Given the description of an element on the screen output the (x, y) to click on. 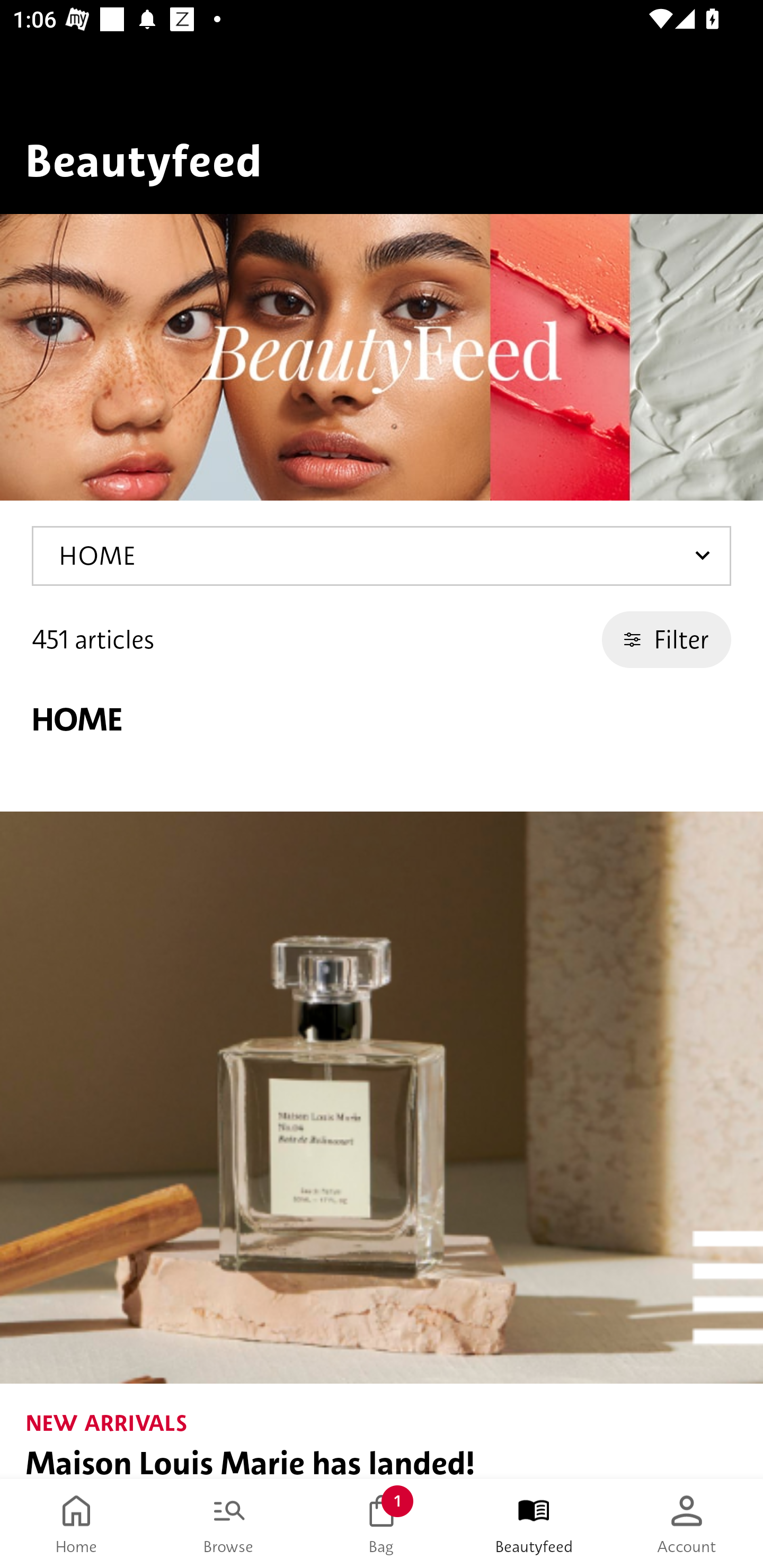
HOME (381, 555)
Filter (666, 639)
NEW ARRIVALS Maison Louis Marie has landed! (381, 1145)
Home (76, 1523)
Browse (228, 1523)
Bag 1 Bag (381, 1523)
Account (686, 1523)
